Given the description of an element on the screen output the (x, y) to click on. 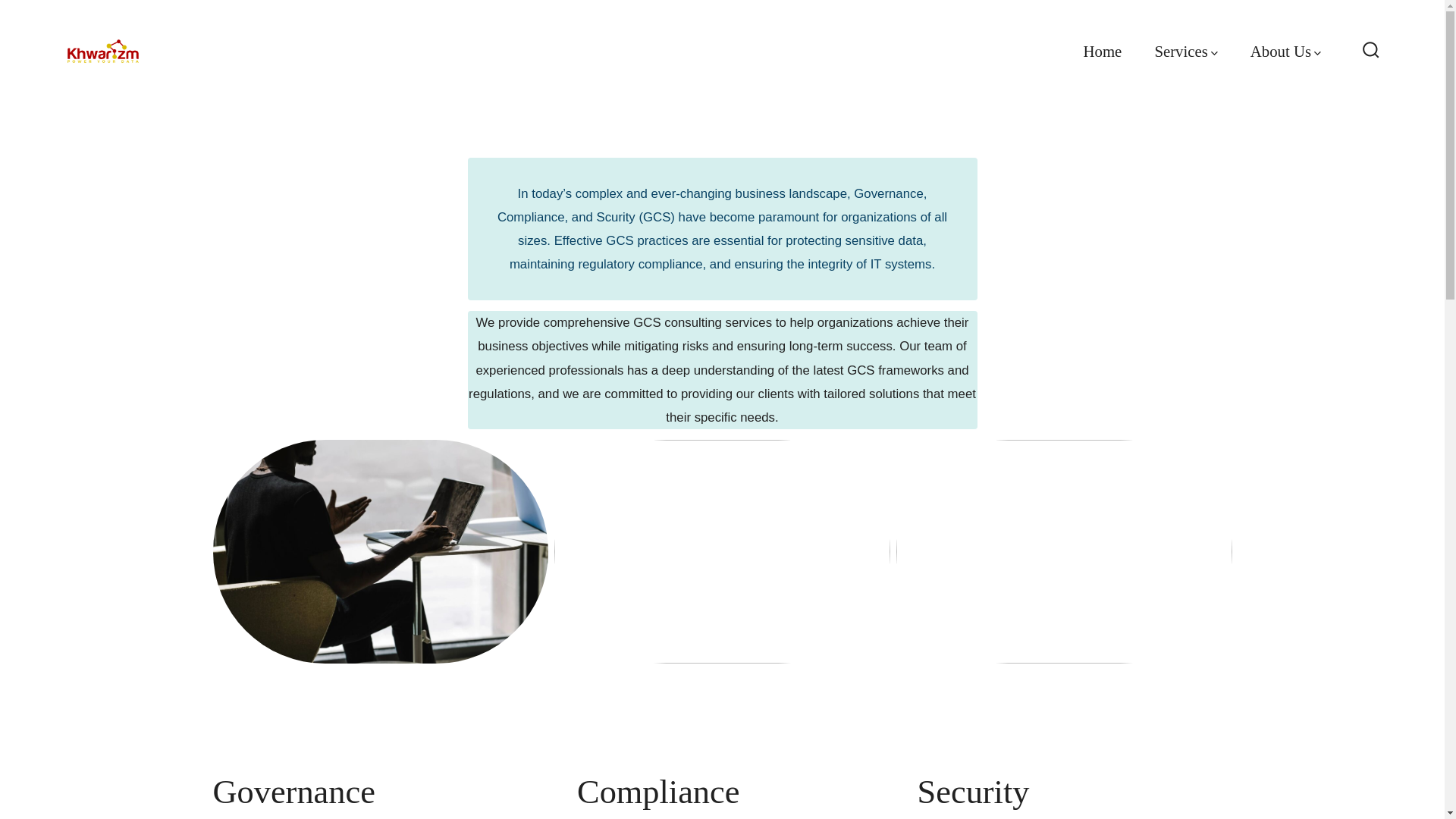
About Us (1285, 51)
Home (1102, 51)
Services (1185, 51)
Search Toggle (1371, 50)
